Given the description of an element on the screen output the (x, y) to click on. 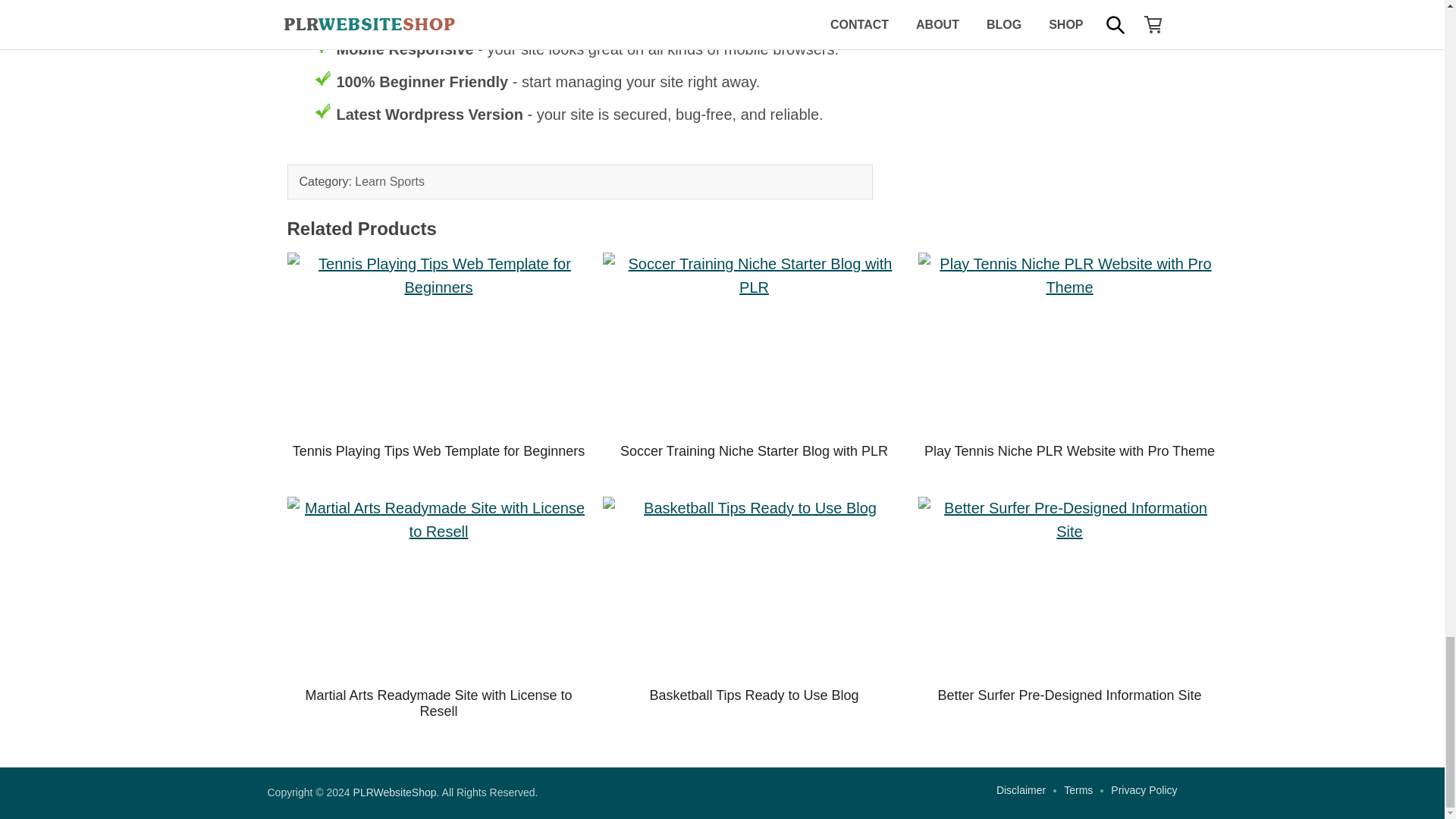
Play Tennis Niche PLR Website with Pro Theme (1069, 450)
Soccer Training Niche Starter Blog with PLR (753, 343)
Martial Arts Readymade Site with License to Resell (438, 703)
Soccer Training Niche Starter Blog with PLR (754, 450)
Basketball Tips Ready to Use Blog (753, 587)
Better Surfer Pre-Designed Information Site (1069, 587)
Tennis Playing Tips Web Template for Beginners (437, 343)
Tennis Playing Tips Web Template for Beginners (438, 450)
Martial Arts Readymade Site with License to Resell (437, 587)
Learn Sports (390, 181)
